Given the description of an element on the screen output the (x, y) to click on. 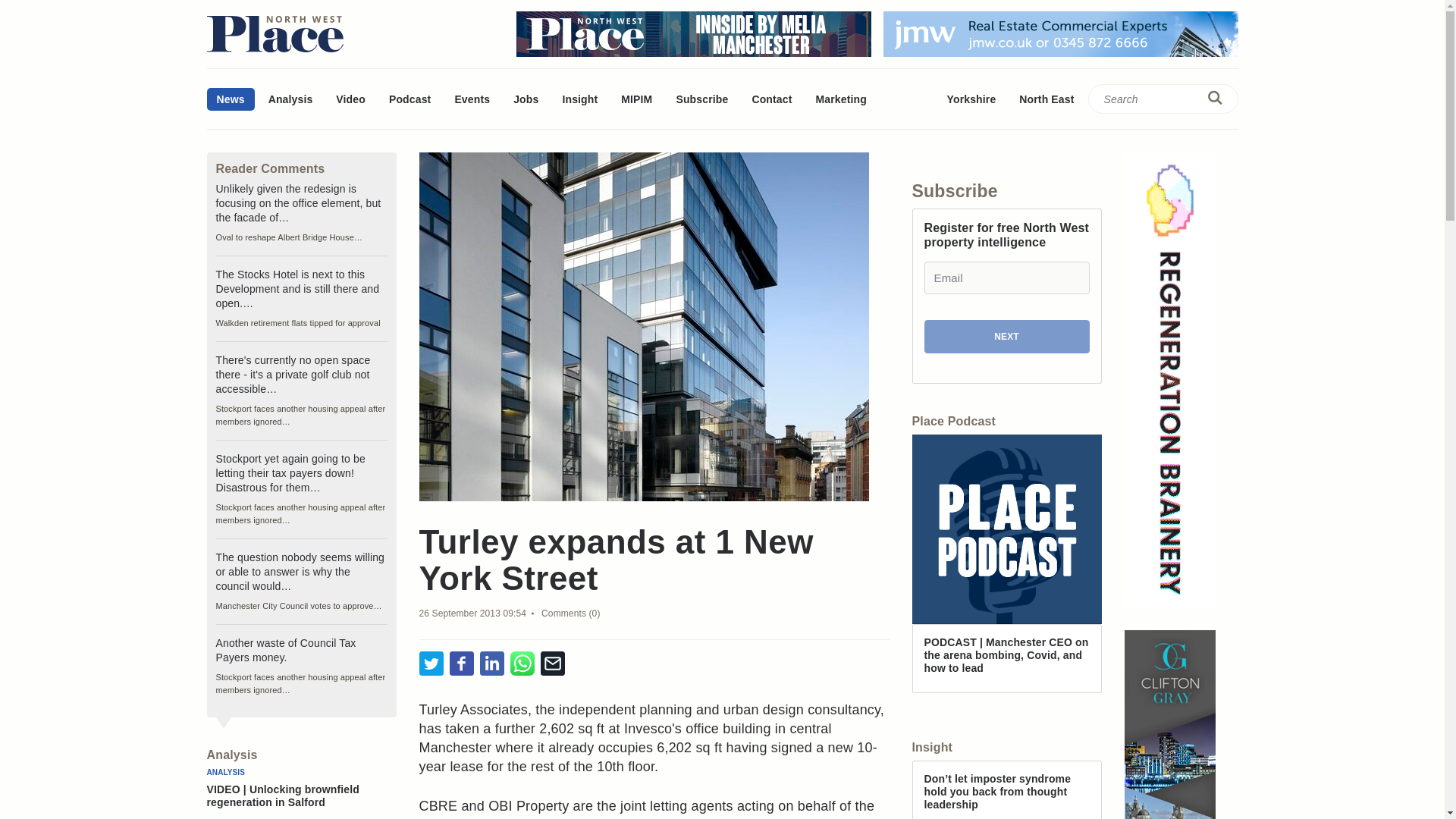
Share on WhatsApp (521, 664)
Analysis (291, 98)
North East (1046, 98)
Podcast (409, 98)
Contact (771, 98)
Marketing (840, 98)
Video (350, 98)
Events (471, 98)
Share by Email (552, 664)
Yorkshire (971, 98)
